Given the description of an element on the screen output the (x, y) to click on. 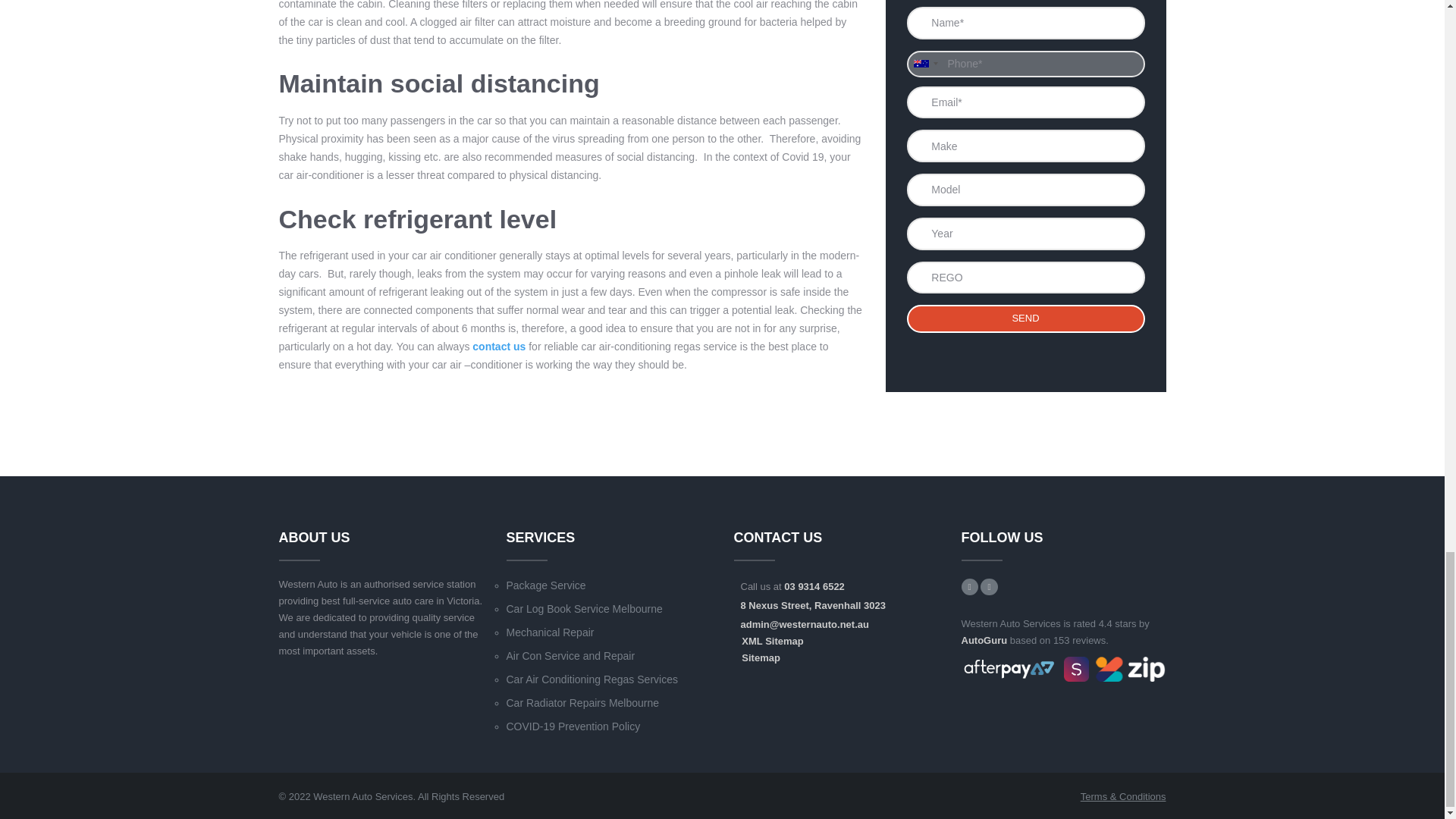
Customer Reviews From Melbourne (983, 640)
